Given the description of an element on the screen output the (x, y) to click on. 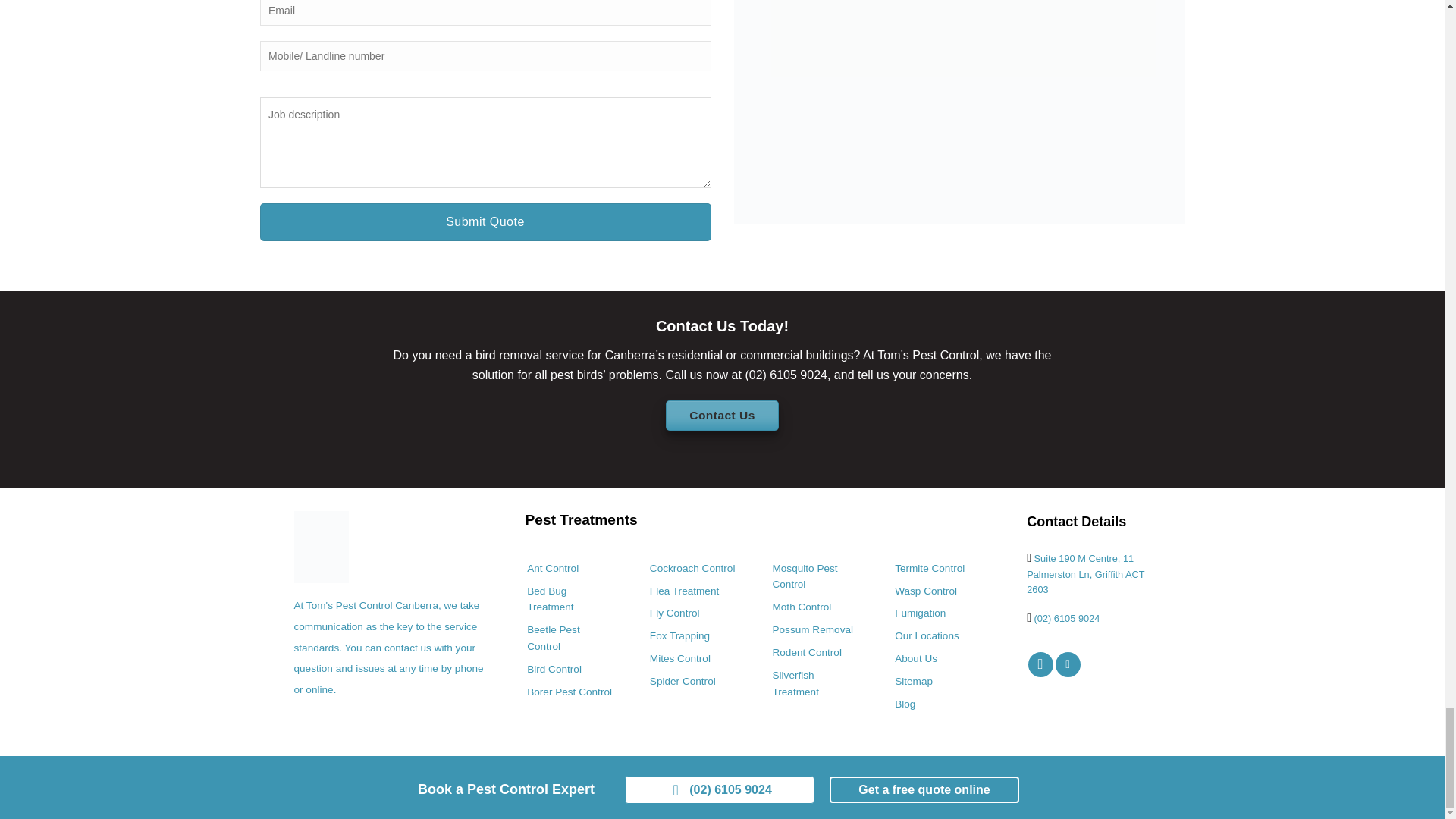
Follow on Facebook (1039, 664)
Submit Quote (484, 221)
Follow on YouTube (1067, 664)
